Given the description of an element on the screen output the (x, y) to click on. 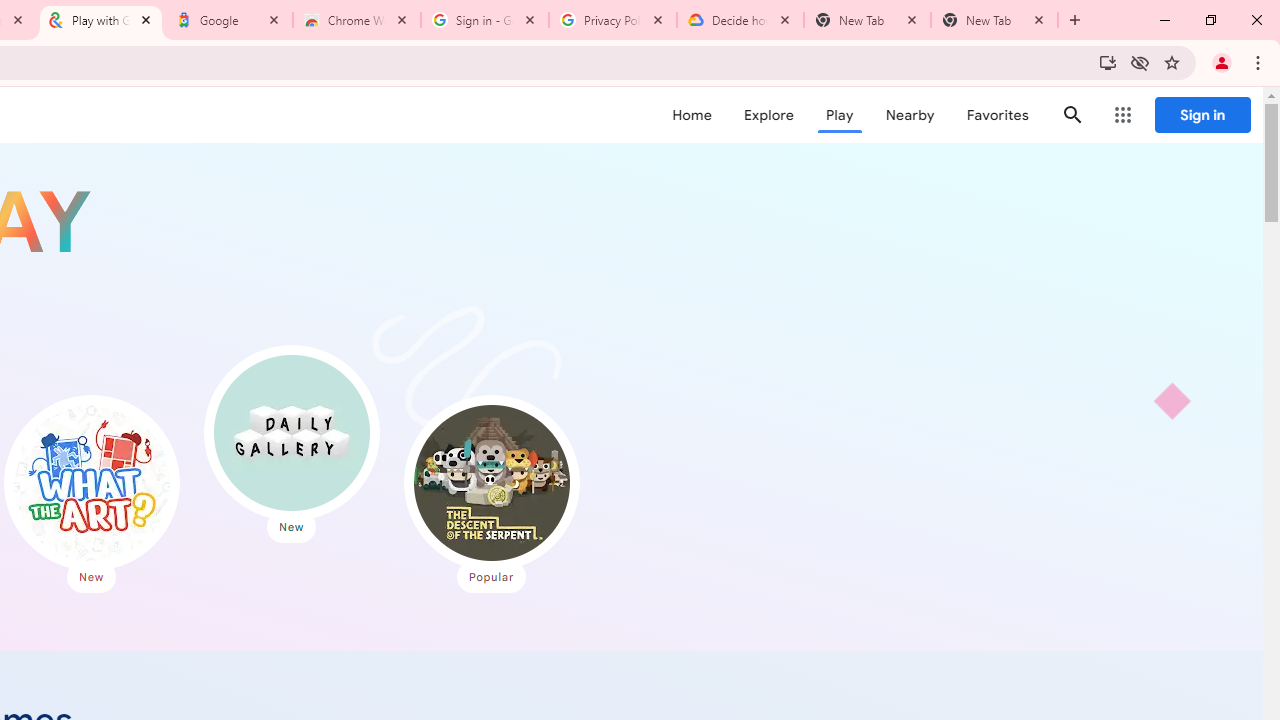
Favorites (996, 115)
Explore (768, 115)
Nearby (910, 115)
Chrome Web Store - Color themes by Chrome (357, 20)
Daily Gallery (291, 432)
Play (840, 115)
